Given the description of an element on the screen output the (x, y) to click on. 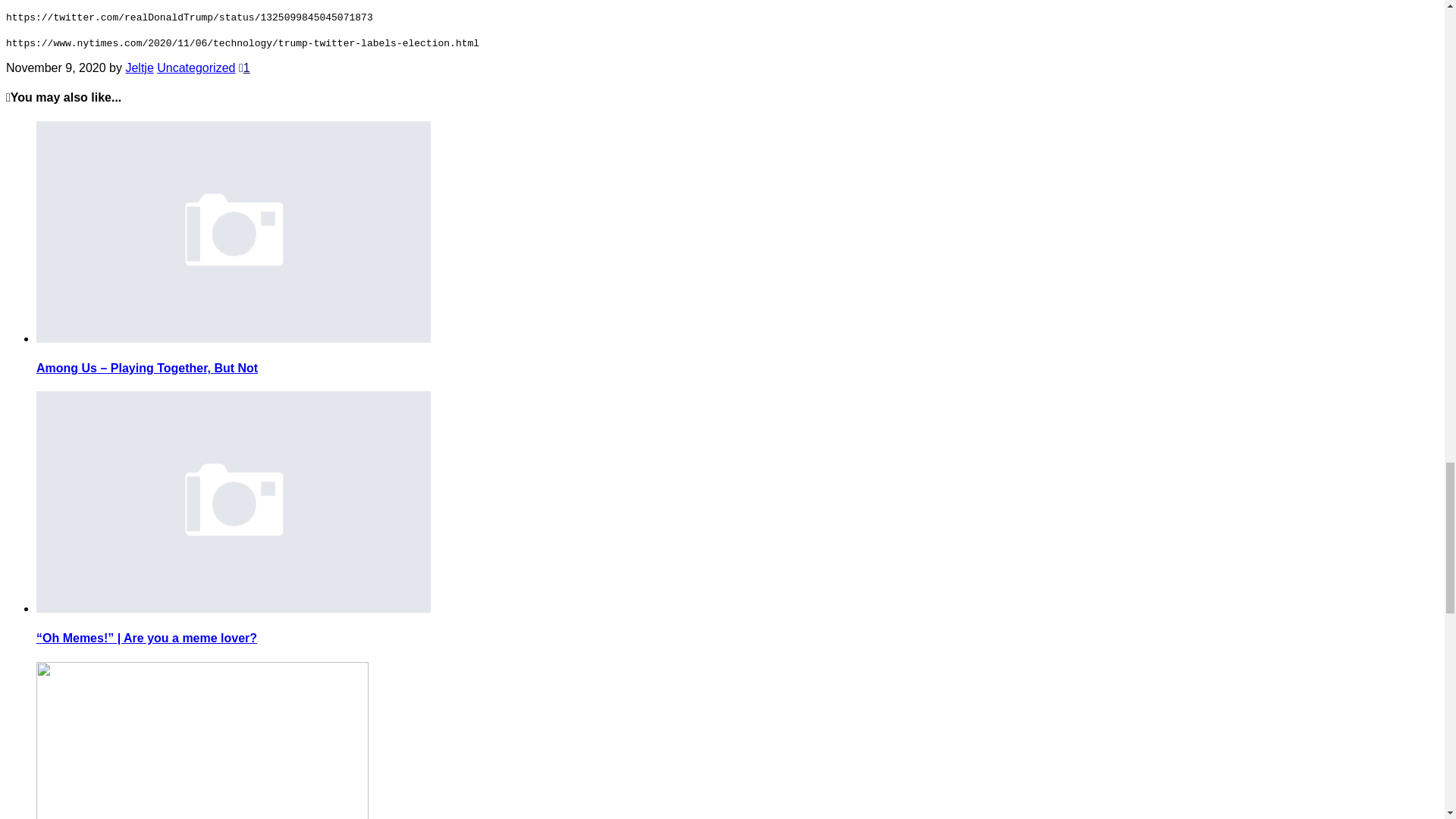
Posts by Jeltje (138, 67)
